Given the description of an element on the screen output the (x, y) to click on. 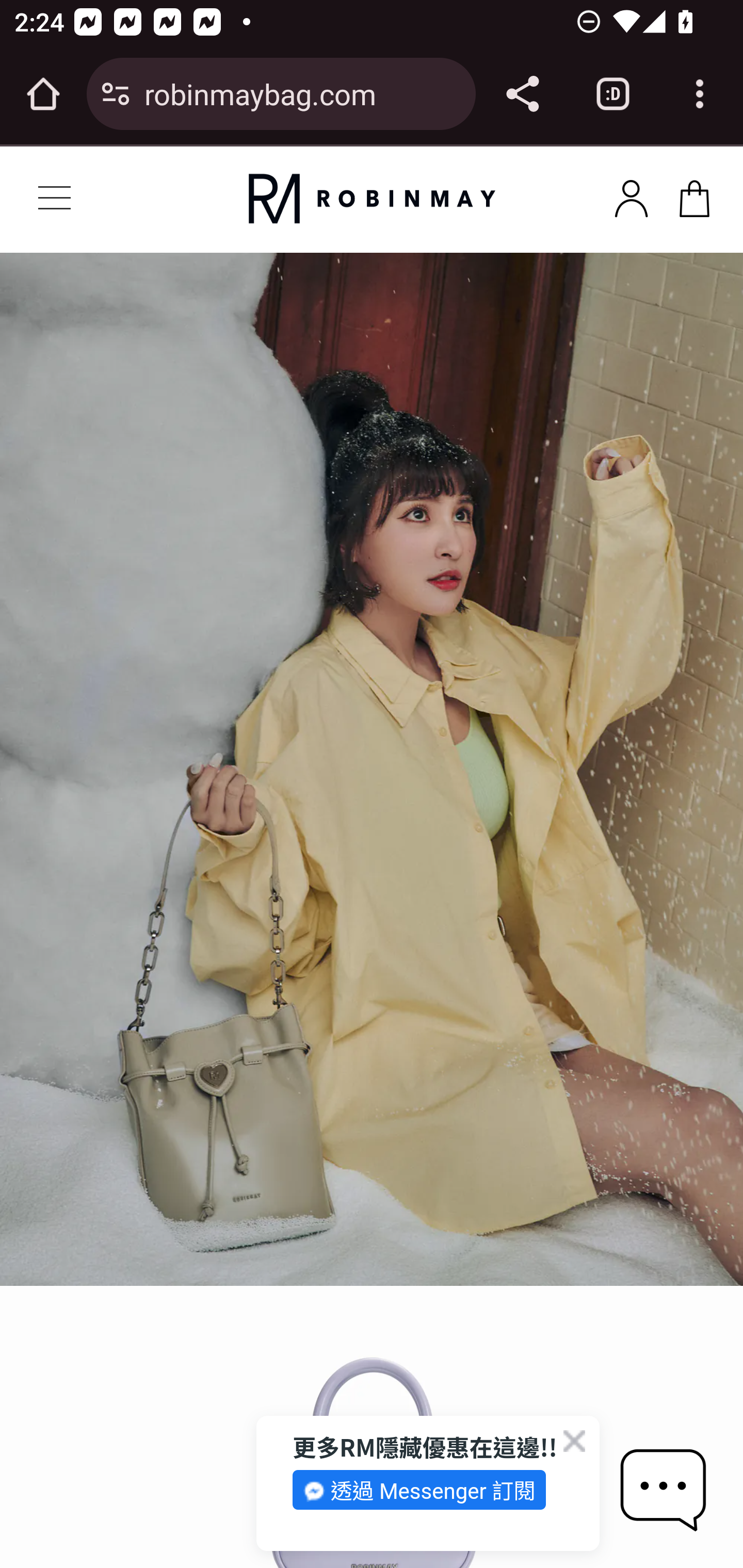
Open the home page (43, 93)
Connection is secure (115, 93)
Share (522, 93)
Switch or close tabs (612, 93)
Customize and control Google Chrome (699, 93)
robinmaybag.com (302, 92)
original (371, 199)
x100 (631, 195)
x100 (694, 195)
